Given the description of an element on the screen output the (x, y) to click on. 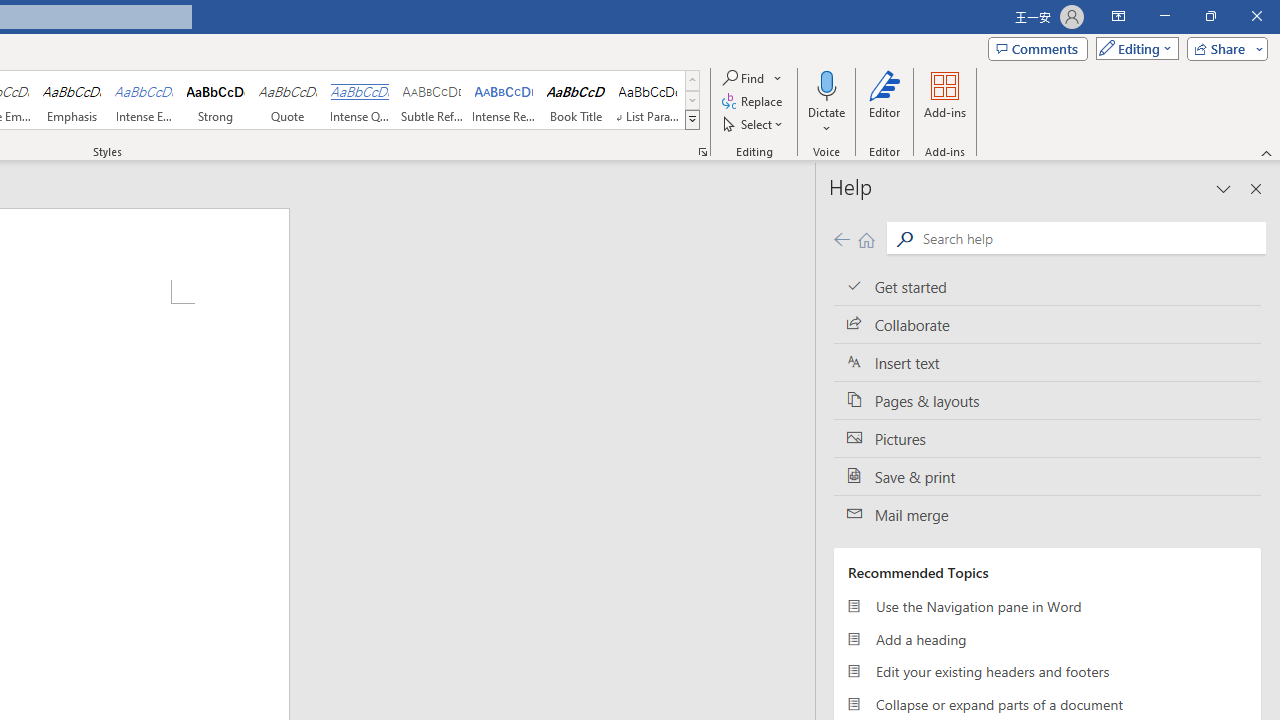
Collaborate (1047, 325)
Strong (216, 100)
Add a heading (1047, 638)
Quote (287, 100)
Save & print (1047, 476)
Edit your existing headers and footers (1047, 672)
